Given the description of an element on the screen output the (x, y) to click on. 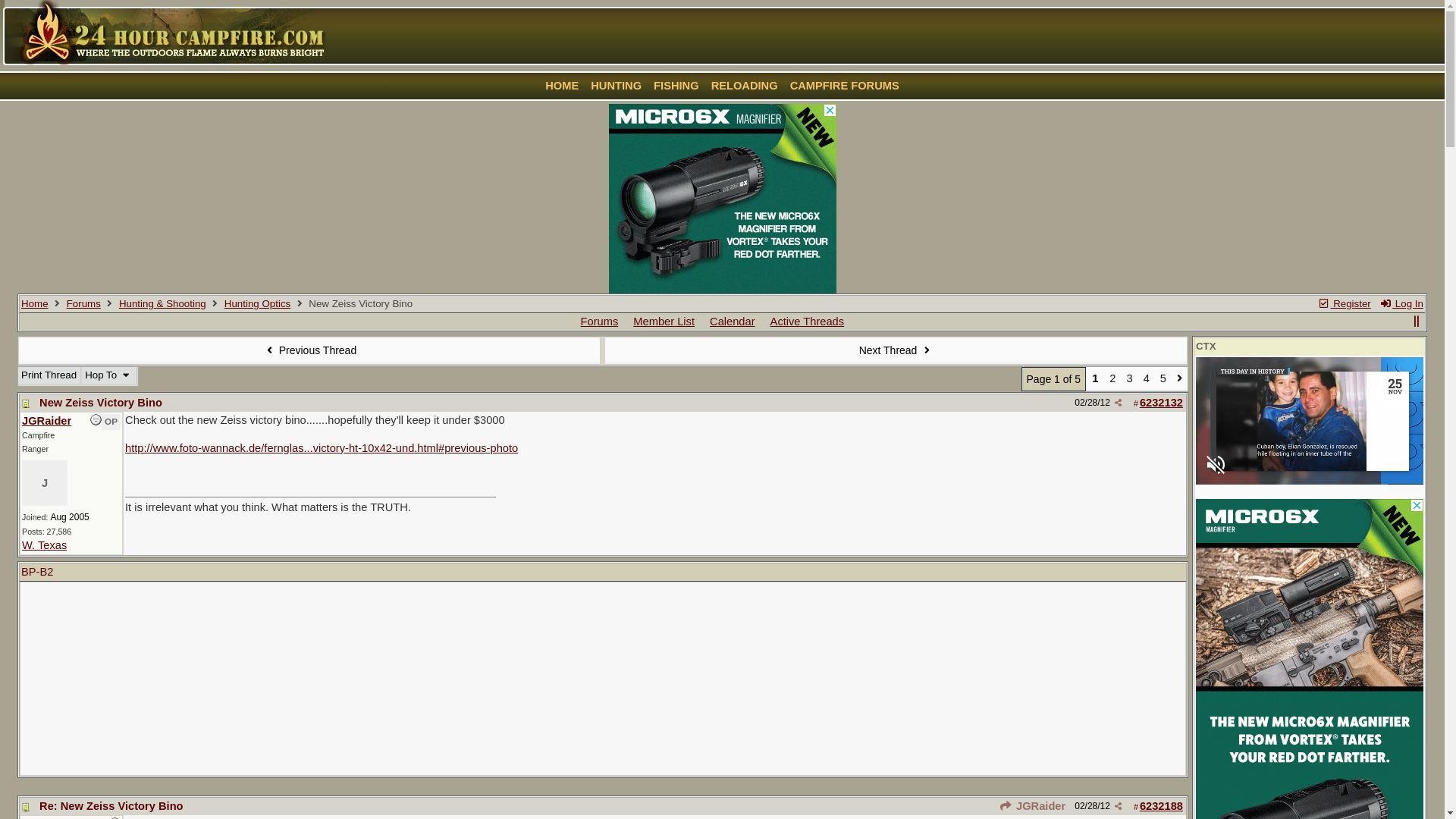
3 Element type: text (1128, 379)
J Element type: text (44, 482)
Share Post Element type: hover (1118, 806)
JGRaider Element type: text (46, 420)
Hop To Element type: text (107, 375)
W. Texas Element type: text (43, 545)
3rd party ad content Element type: hover (721, 198)
5 Element type: text (1162, 379)
6232188 Element type: text (1161, 805)
Hunting & Shooting Element type: text (162, 303)
2 Element type: text (1112, 379)
New Zeiss Victory Bino Element type: text (100, 402)
FISHING Element type: text (675, 85)
6232132 Element type: text (1161, 402)
HUNTING Element type: text (616, 85)
Hunting Optics Element type: text (257, 303)
Print Thread Element type: text (48, 375)
JGRaider Element type: text (1032, 805)
Forums Element type: text (83, 303)
Share Post Element type: hover (1118, 402)
Previous Thread Element type: text (308, 350)
Calendar Element type: text (732, 321)
Member List Element type: text (663, 321)
Register Element type: text (1344, 303)
HOME Element type: text (561, 85)
RELOADING Element type: text (744, 85)
Home Element type: text (34, 303)
CAMPFIRE FORUMS Element type: text (844, 85)
Re: New Zeiss Victory Bino Element type: text (111, 805)
Offline Element type: hover (95, 419)
Go to page 2 Element type: hover (1179, 379)
Active Threads Element type: text (806, 321)
show/hide columns on this page Element type: hover (1416, 321)
Next Thread Element type: text (895, 350)
Forums Element type: text (599, 321)
Log In Element type: text (1401, 303)
4 Element type: text (1146, 379)
